Given the description of an element on the screen output the (x, y) to click on. 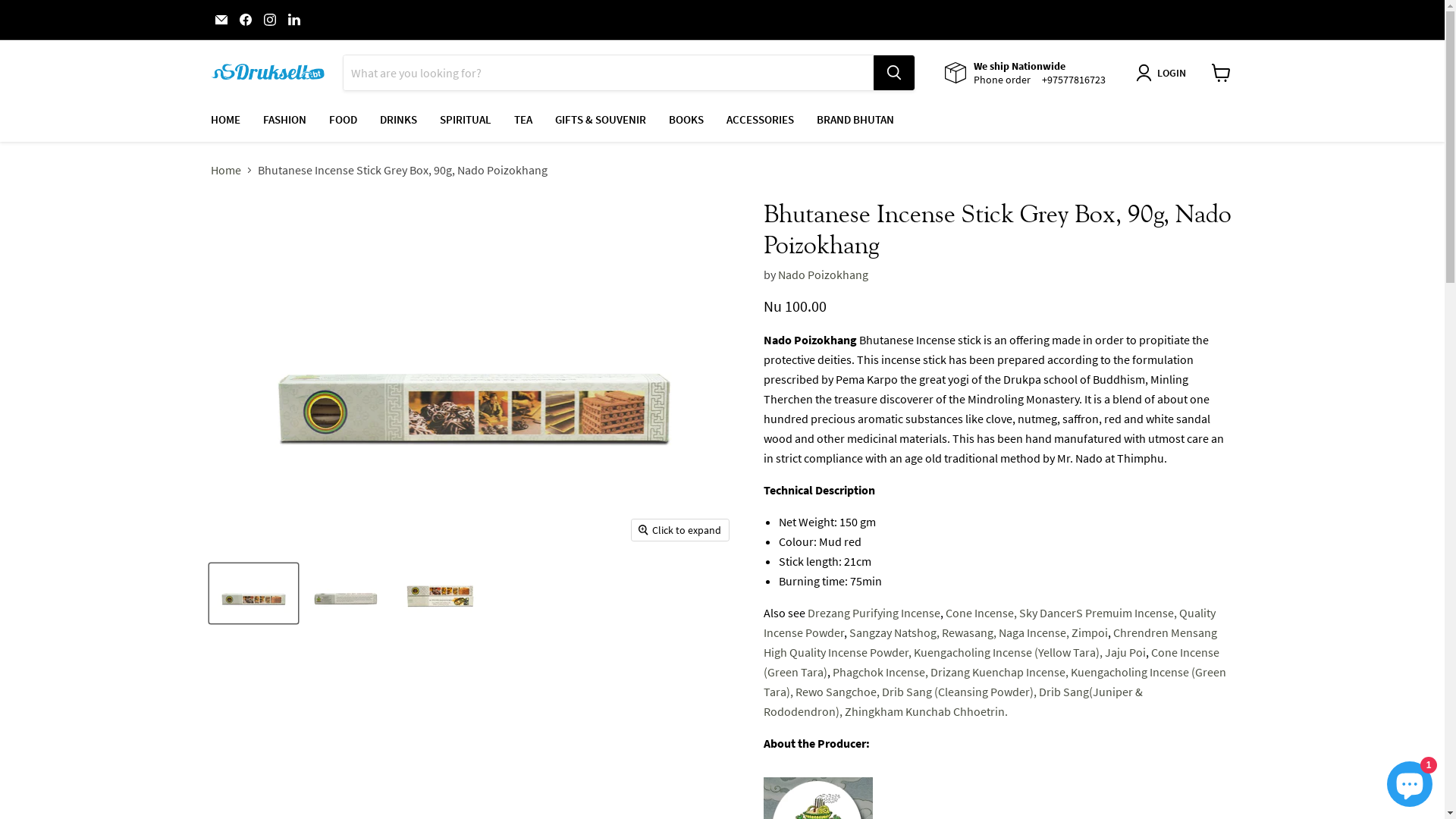
TEA Element type: text (522, 119)
Drezang Purifying Incense Element type: text (872, 612)
ACCESSORIES Element type: text (759, 119)
Kuengacholing Incense (Green Tara), Element type: text (993, 681)
FASHION Element type: text (284, 119)
Find us on Facebook Element type: text (245, 19)
Jaju Poi Element type: text (1124, 651)
Drizang Kuenchap Incense, Element type: text (998, 671)
Phagchok Incense, Element type: text (880, 671)
Click to expand Element type: text (679, 529)
HOME Element type: text (224, 119)
View cart Element type: text (1221, 72)
Rewasang, Element type: text (968, 632)
FOOD Element type: text (341, 119)
LOGIN Element type: text (1163, 72)
Rewo Sangchoe, Element type: text (836, 691)
Sangzay Natshog, Element type: text (894, 632)
BOOKS Element type: text (685, 119)
Find us on LinkedIn Element type: text (293, 19)
Naga Incense, Element type: text (1032, 632)
Find us on Instagram Element type: text (269, 19)
Kuengacholing Incense (Yellow Tara), Element type: text (1007, 651)
Cone Incense (Green Tara) Element type: text (990, 661)
Email druksell.bt Element type: text (221, 19)
BRAND BHUTAN Element type: text (855, 119)
Drib Sang (Cleansing Powder), Element type: text (958, 691)
Home Element type: text (225, 169)
Zhingkham Kunchab Chhoetrin. Element type: text (925, 710)
GIFTS & SOUVENIR Element type: text (599, 119)
SPIRITUAL Element type: text (464, 119)
Chrendren Mensang High Quality Incense Powder, Element type: text (989, 641)
Zimpoi Element type: text (1088, 632)
DRINKS Element type: text (398, 119)
Shopify online store chat Element type: hover (1409, 780)
Sky DancerS Premuim Incense, Element type: text (1097, 612)
Cone Incense, Element type: text (980, 612)
Drib Sang(Juniper & Rododendron), Element type: text (952, 701)
Quality Incense Powder Element type: text (988, 622)
Nado Poizokhang Element type: text (823, 274)
